Given the description of an element on the screen output the (x, y) to click on. 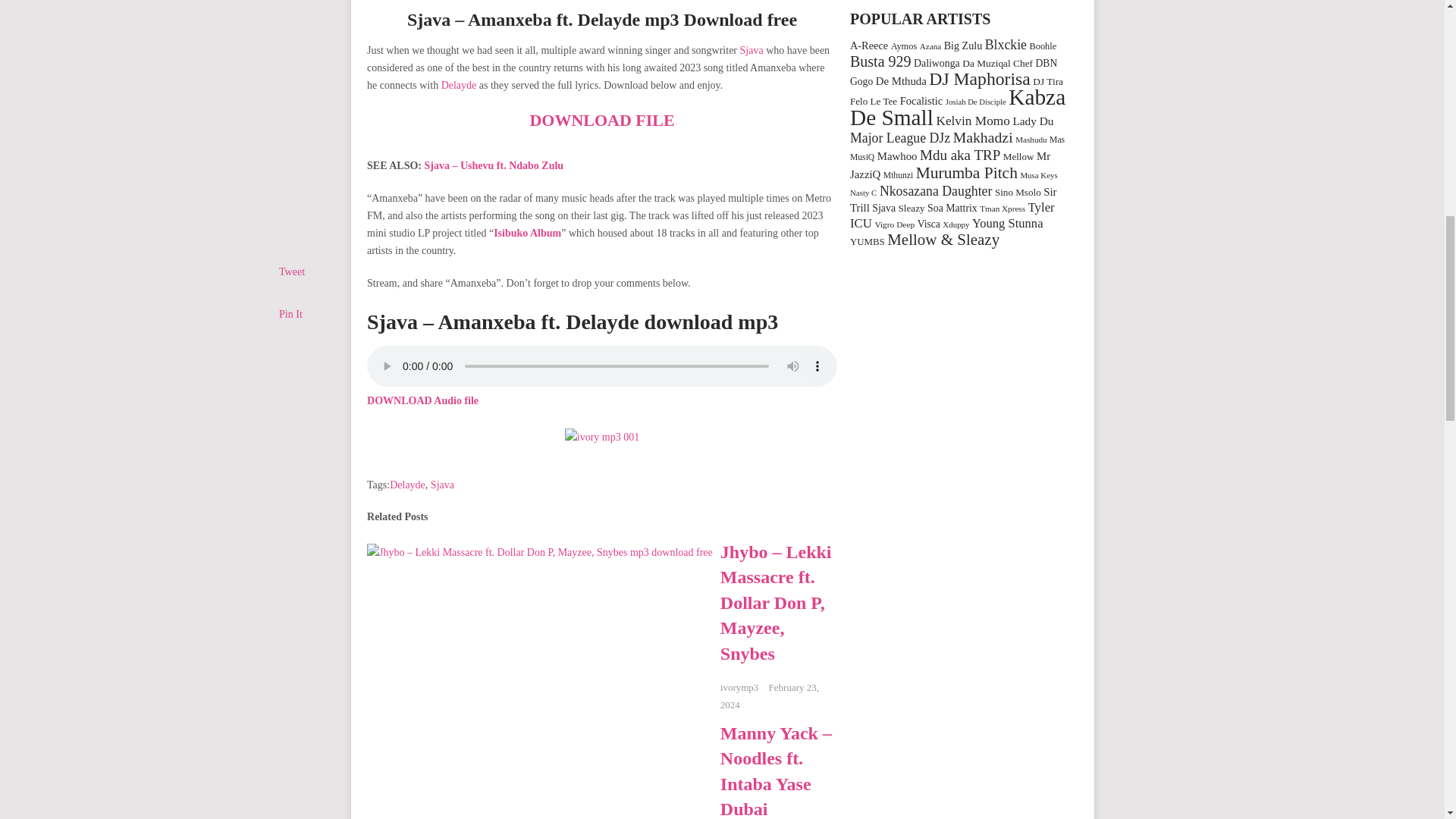
ivorymp3 (739, 686)
Isibuko Album (526, 233)
Delayde (407, 484)
DOWNLOAD Audio file (422, 400)
Sjava (750, 50)
Posts by ivorymp3 (739, 686)
DOWNLOAD FILE (601, 119)
Delayde (459, 84)
Sjava (442, 484)
